Given the description of an element on the screen output the (x, y) to click on. 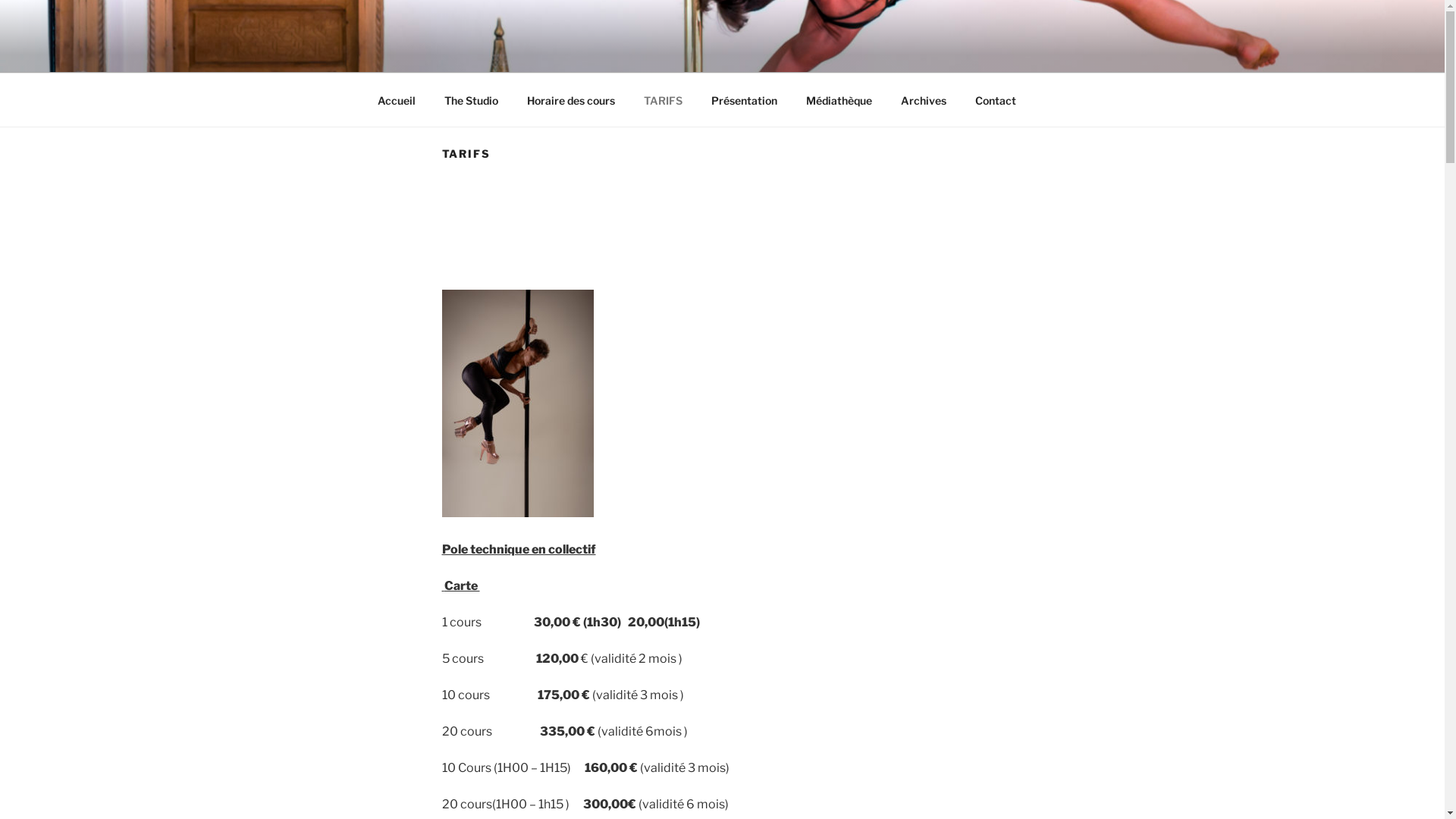
The Studio Element type: text (470, 100)
Contact Element type: text (995, 100)
Horaire des cours Element type: text (571, 100)
BUILDANDMOVEYOURBODY Element type: text (596, 52)
TARIFS Element type: text (663, 100)
Accueil Element type: text (396, 100)
Archives Element type: text (923, 100)
